Given the description of an element on the screen output the (x, y) to click on. 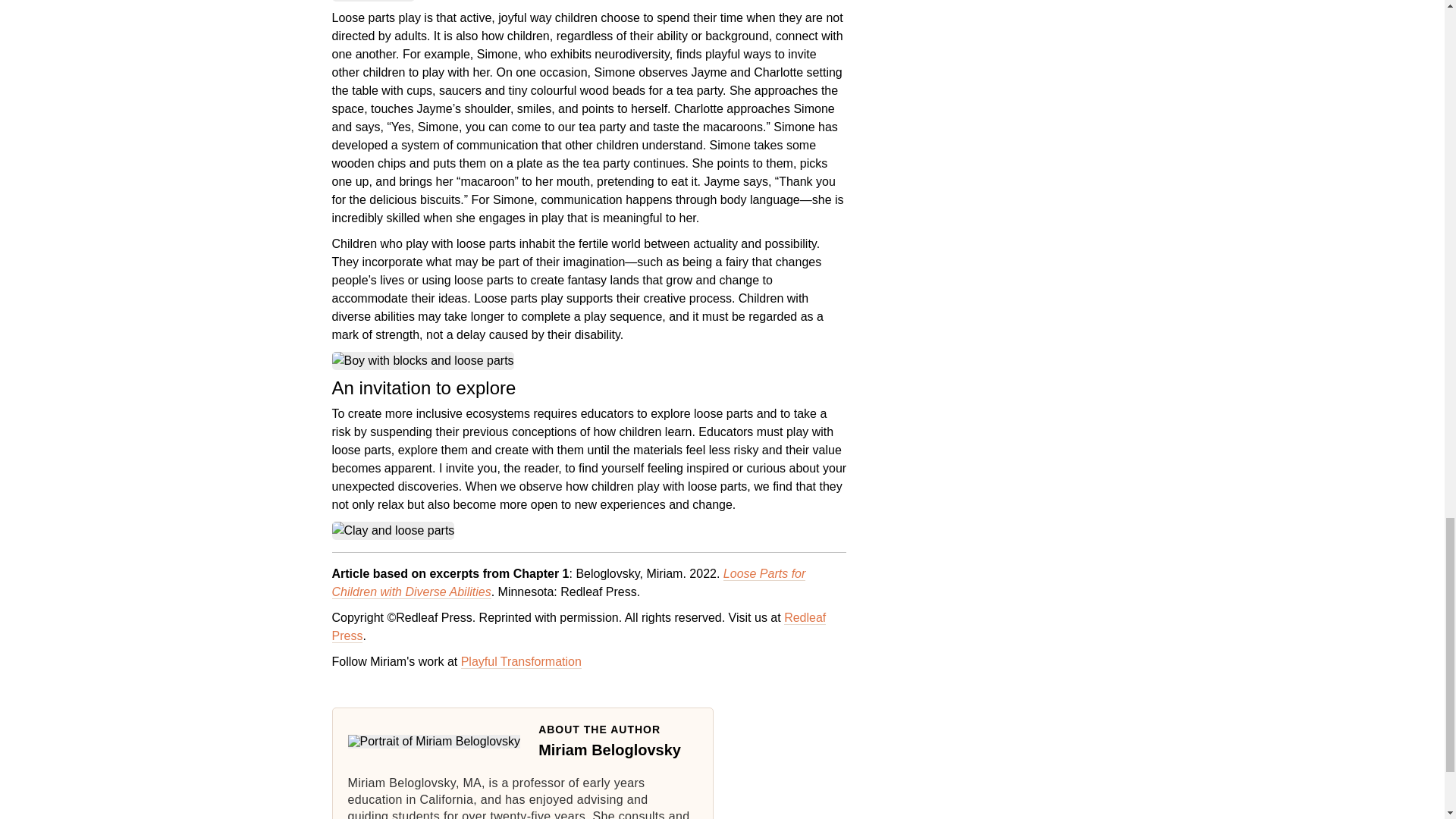
Opens in a new window (568, 582)
Opens in a new window (520, 662)
Opens in a new window (579, 626)
